Given the description of an element on the screen output the (x, y) to click on. 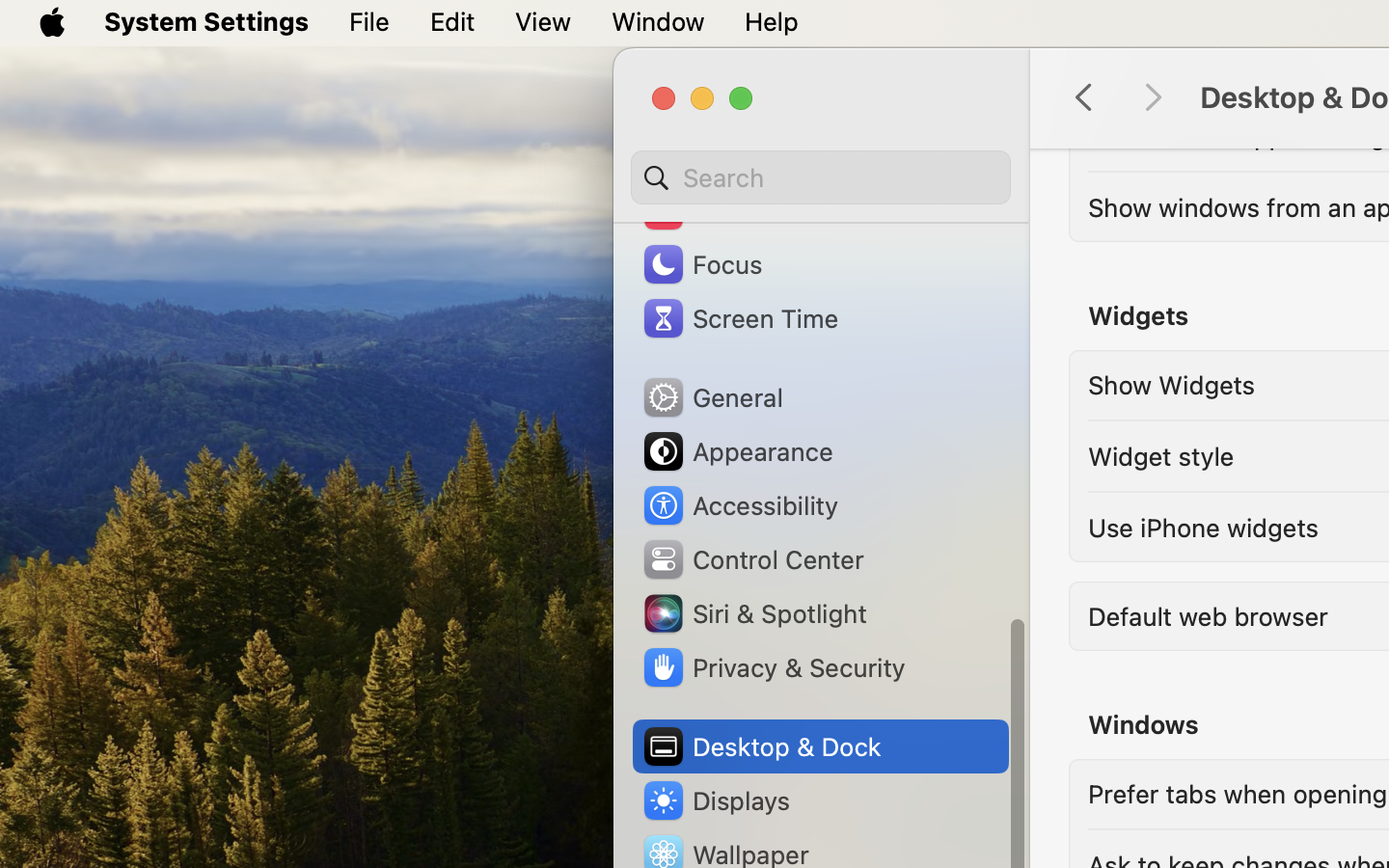
Privacy & Security Element type: AXStaticText (772, 667)
Control Center Element type: AXStaticText (752, 559)
Screen Time Element type: AXStaticText (739, 318)
Accessibility Element type: AXStaticText (739, 505)
Sound Element type: AXStaticText (703, 210)
